Given the description of an element on the screen output the (x, y) to click on. 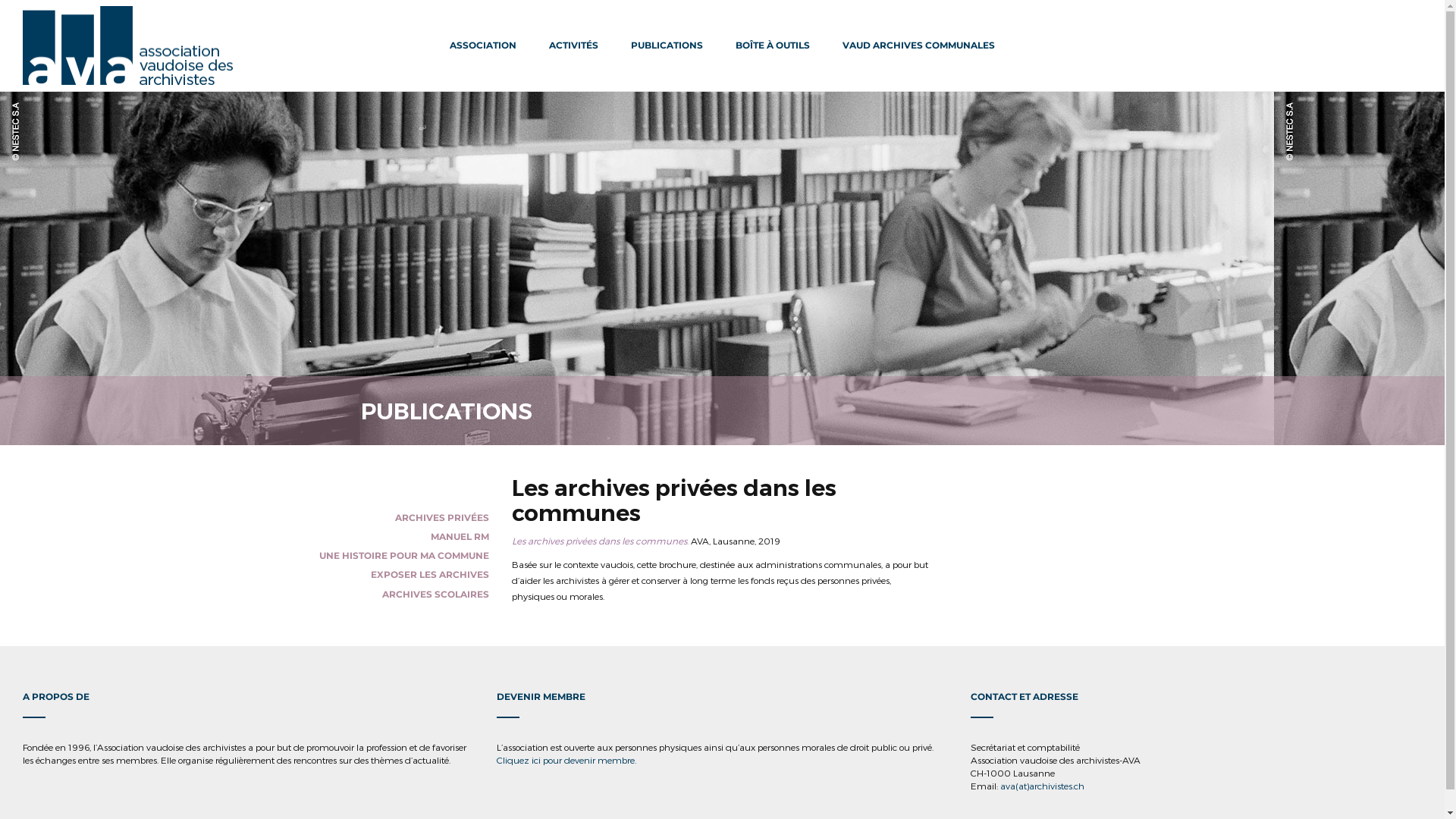
EXPOSER LES ARCHIVES Element type: text (429, 574)
ASSOCIATION Element type: text (482, 45)
PUBLICATIONS Element type: text (666, 45)
Cliquez ici pour devenir membre. Element type: text (566, 759)
VAUD ARCHIVES COMMUNALES Element type: text (918, 45)
MANUEL RM Element type: text (459, 536)
UNE HISTOIRE POUR MA COMMUNE Element type: text (404, 555)
ava(at)archivistes.ch Element type: text (1042, 785)
ARCHIVES SCOLAIRES Element type: text (435, 593)
